Given the description of an element on the screen output the (x, y) to click on. 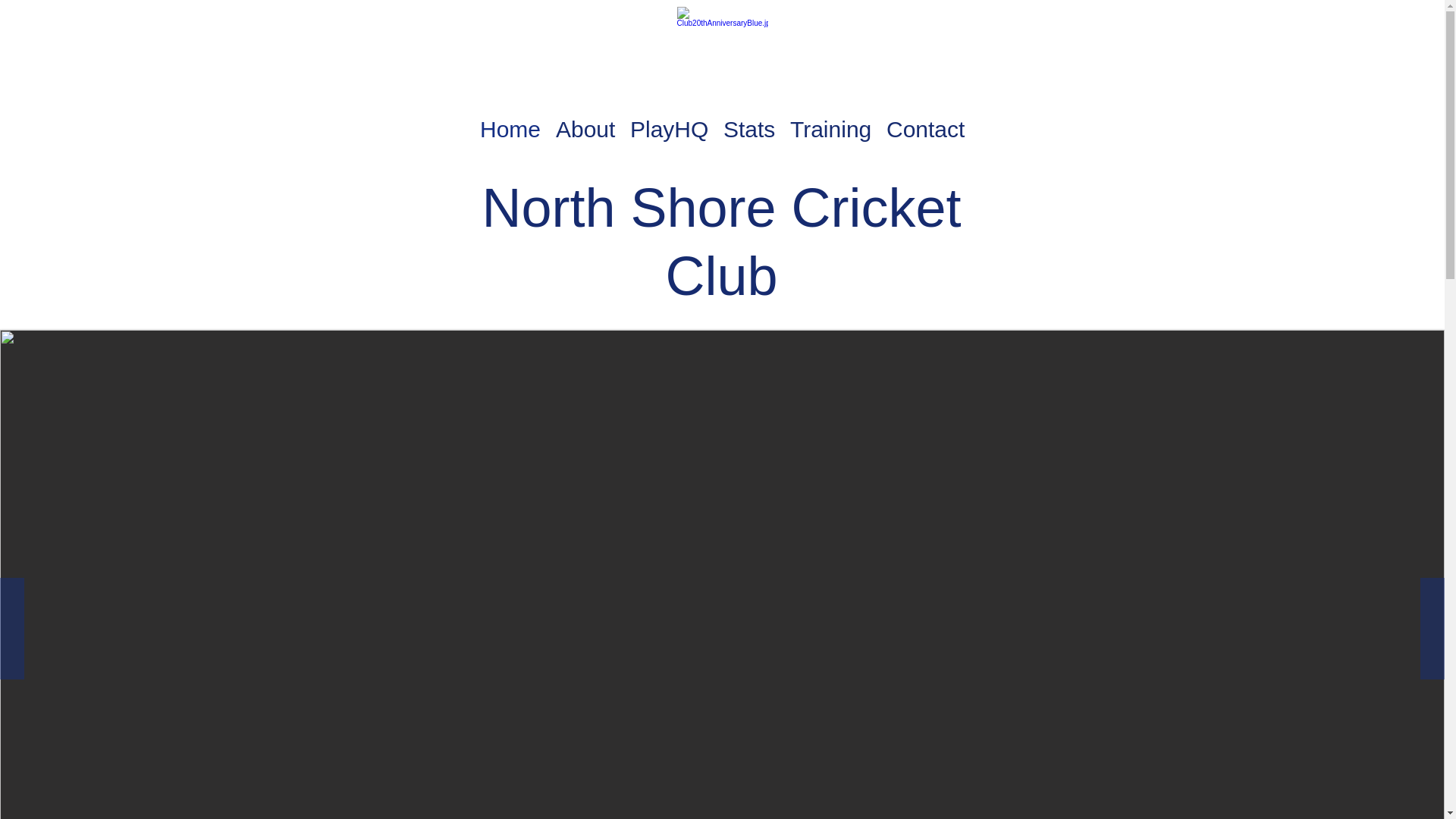
PlayHQ (669, 119)
Contact (925, 119)
Training (831, 119)
Home (509, 119)
About (585, 119)
